Given the description of an element on the screen output the (x, y) to click on. 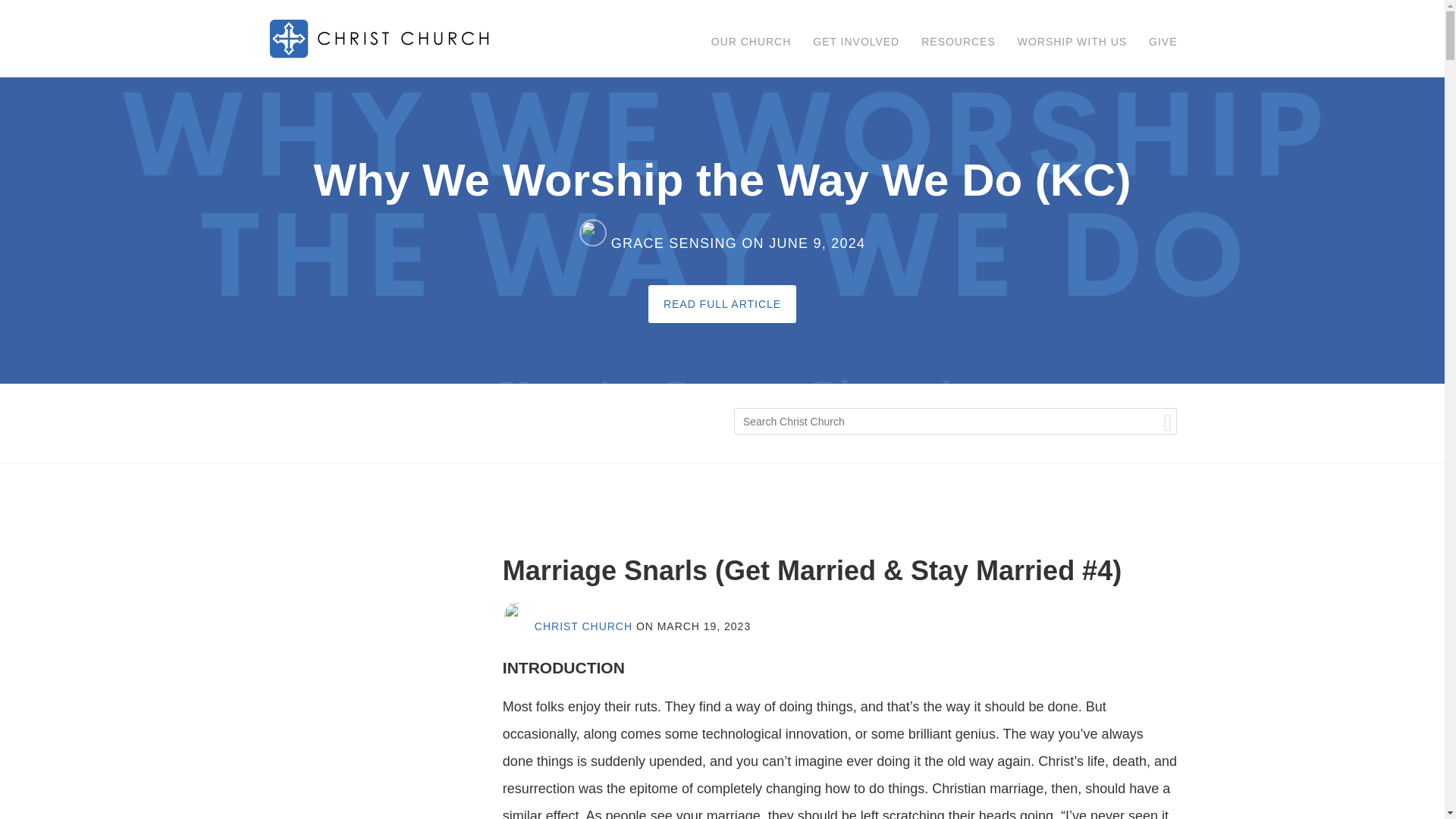
READ FULL ARTICLE (721, 303)
OUR CHURCH (750, 36)
GRACE SENSING (657, 242)
WORSHIP WITH US (1071, 36)
RESOURCES (958, 36)
CHRIST CHURCH (566, 625)
Christ Church (380, 38)
GET INVOLVED (855, 36)
